Given the description of an element on the screen output the (x, y) to click on. 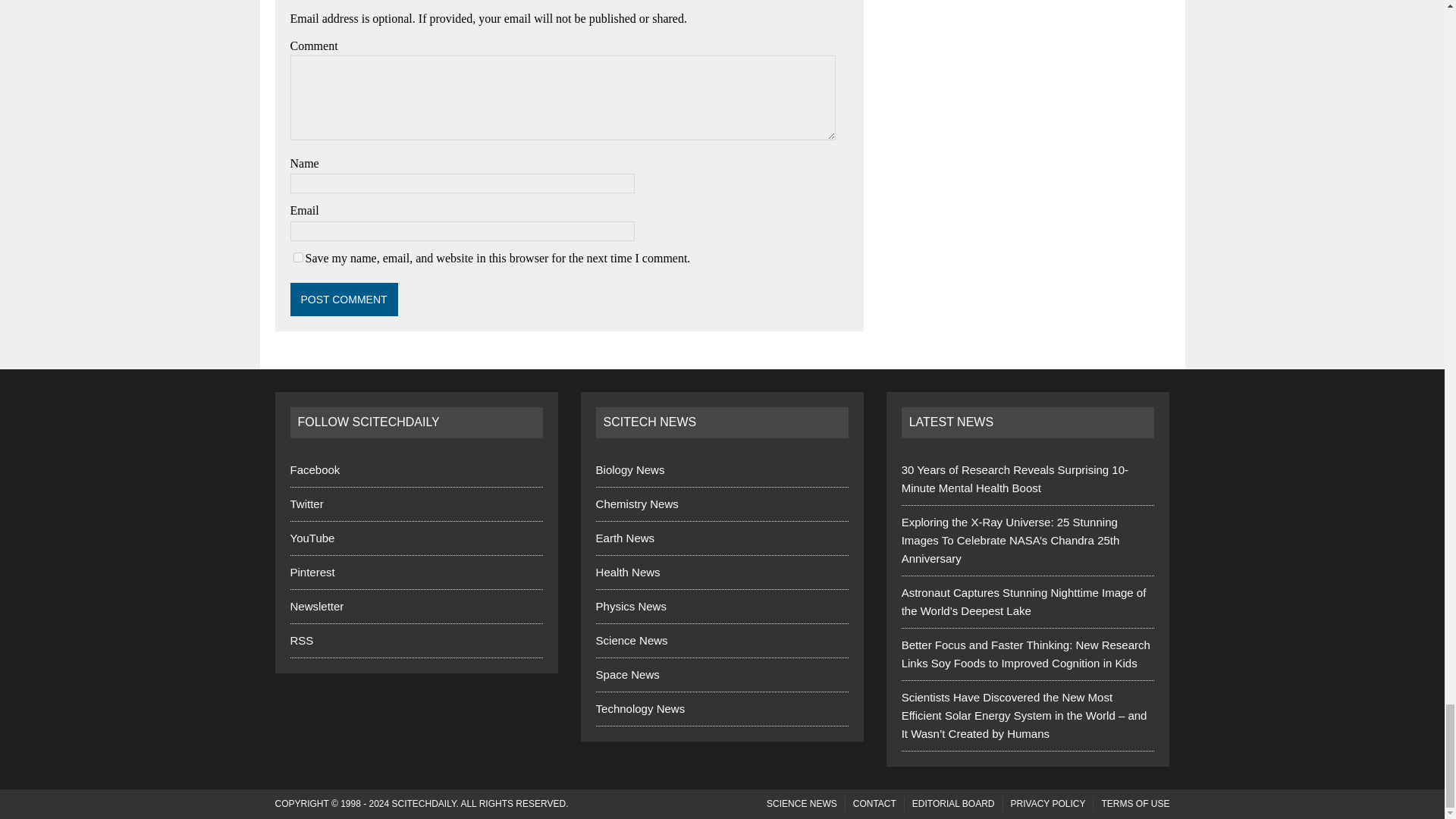
yes (297, 257)
Post Comment (343, 299)
